Given the description of an element on the screen output the (x, y) to click on. 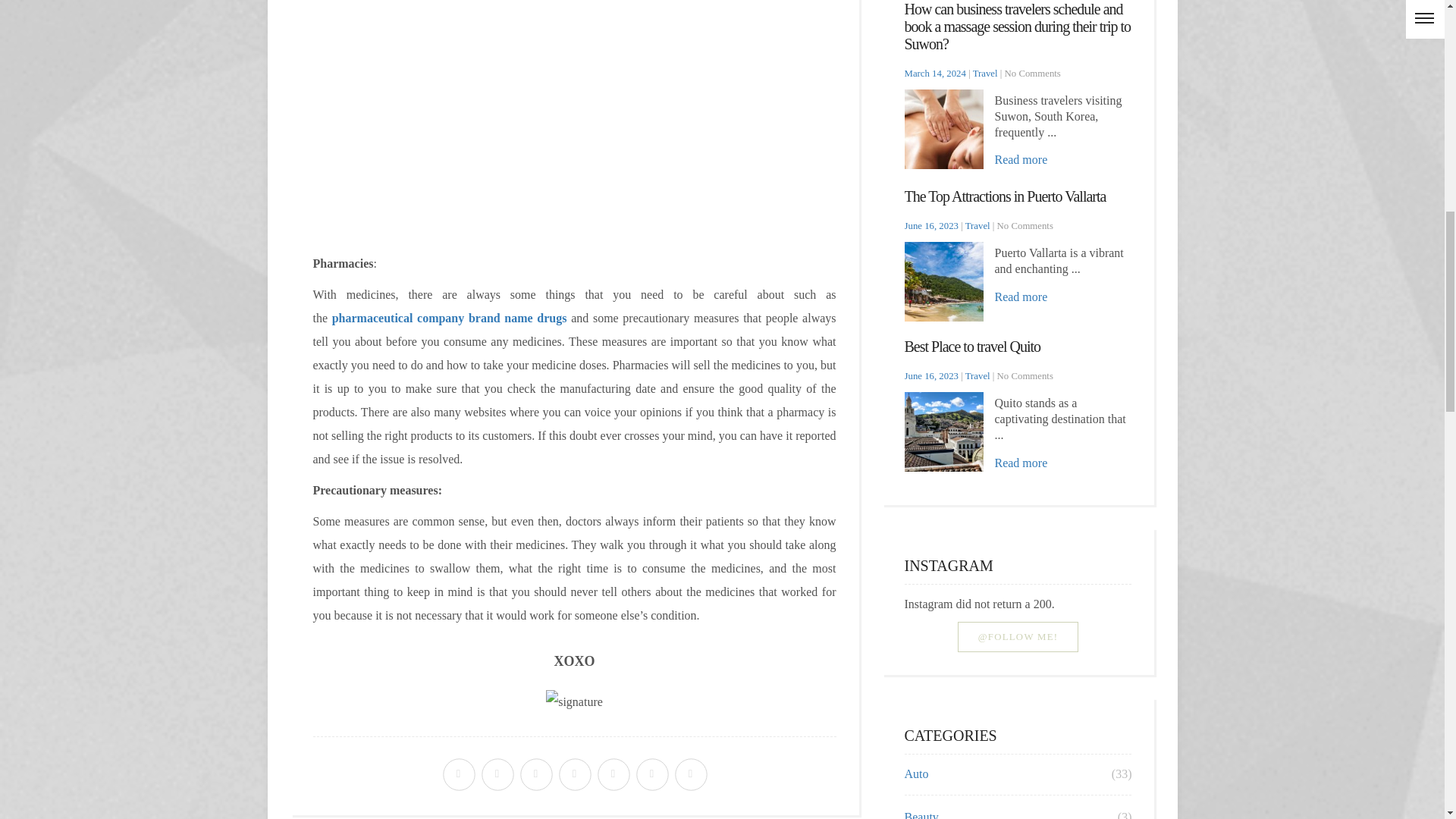
Travel (977, 225)
Best Place to travel Quito (972, 346)
June 16, 2023 (931, 225)
Best Place to travel Quito (972, 346)
signature (574, 701)
Read more (1020, 296)
June 16, 2023 (931, 376)
Travel (984, 72)
